Given the description of an element on the screen output the (x, y) to click on. 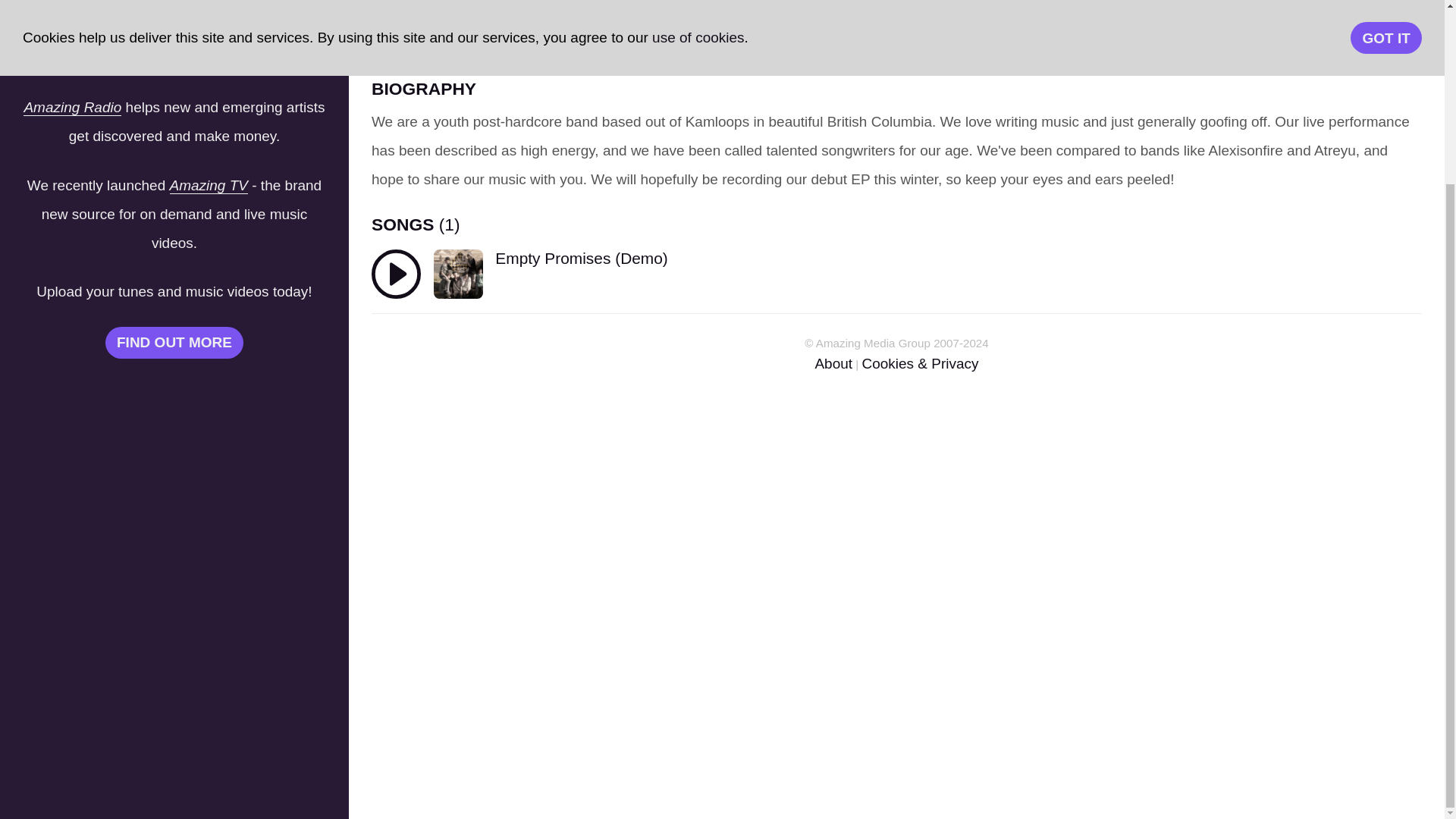
Amazing Radio (71, 70)
About (832, 363)
FIND OUT MORE (173, 305)
Amazing TV (208, 148)
